Given the description of an element on the screen output the (x, y) to click on. 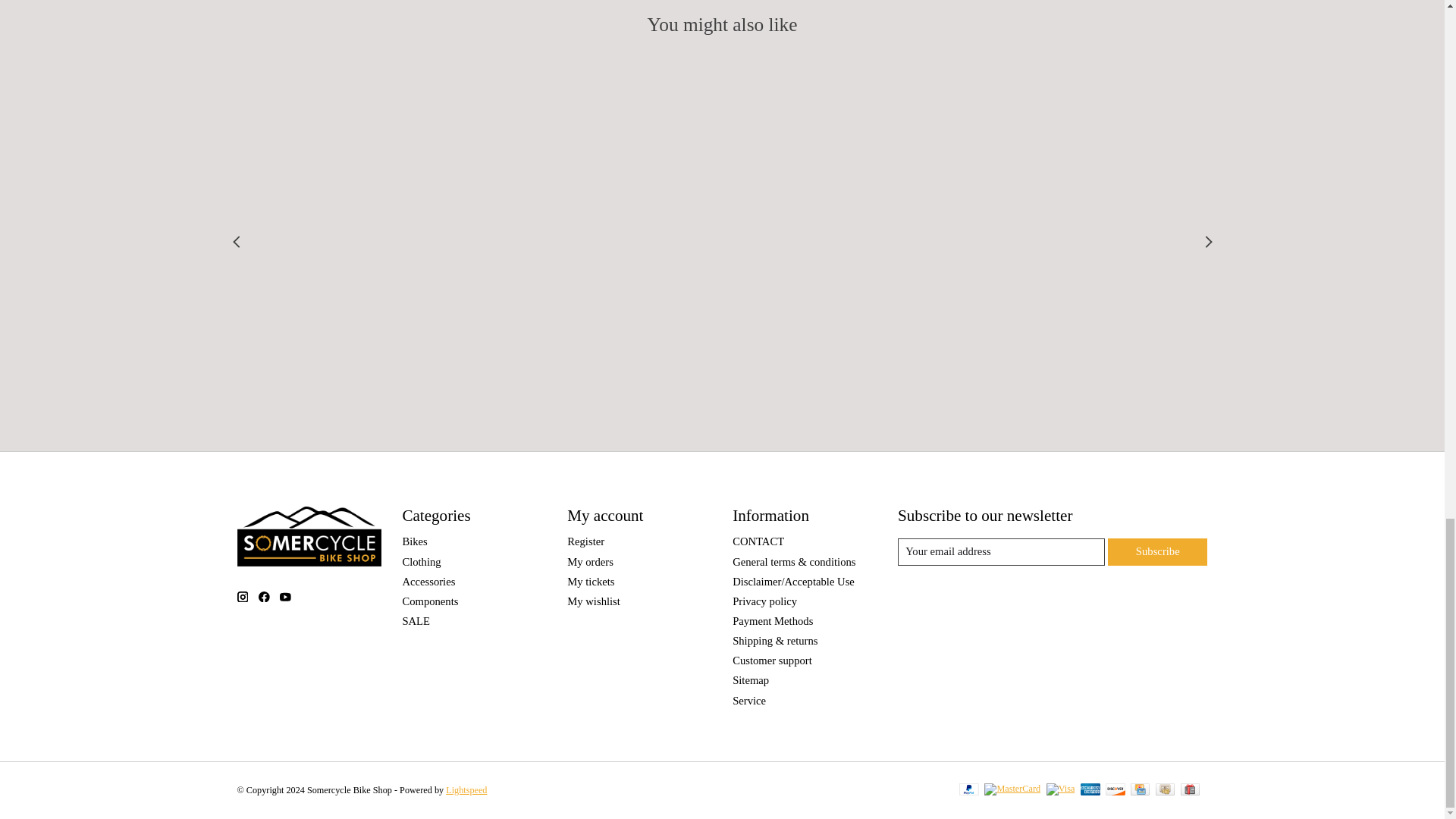
My tickets (590, 581)
Register (585, 541)
My wishlist (593, 601)
My orders (589, 562)
CONTACT (758, 541)
